Given the description of an element on the screen output the (x, y) to click on. 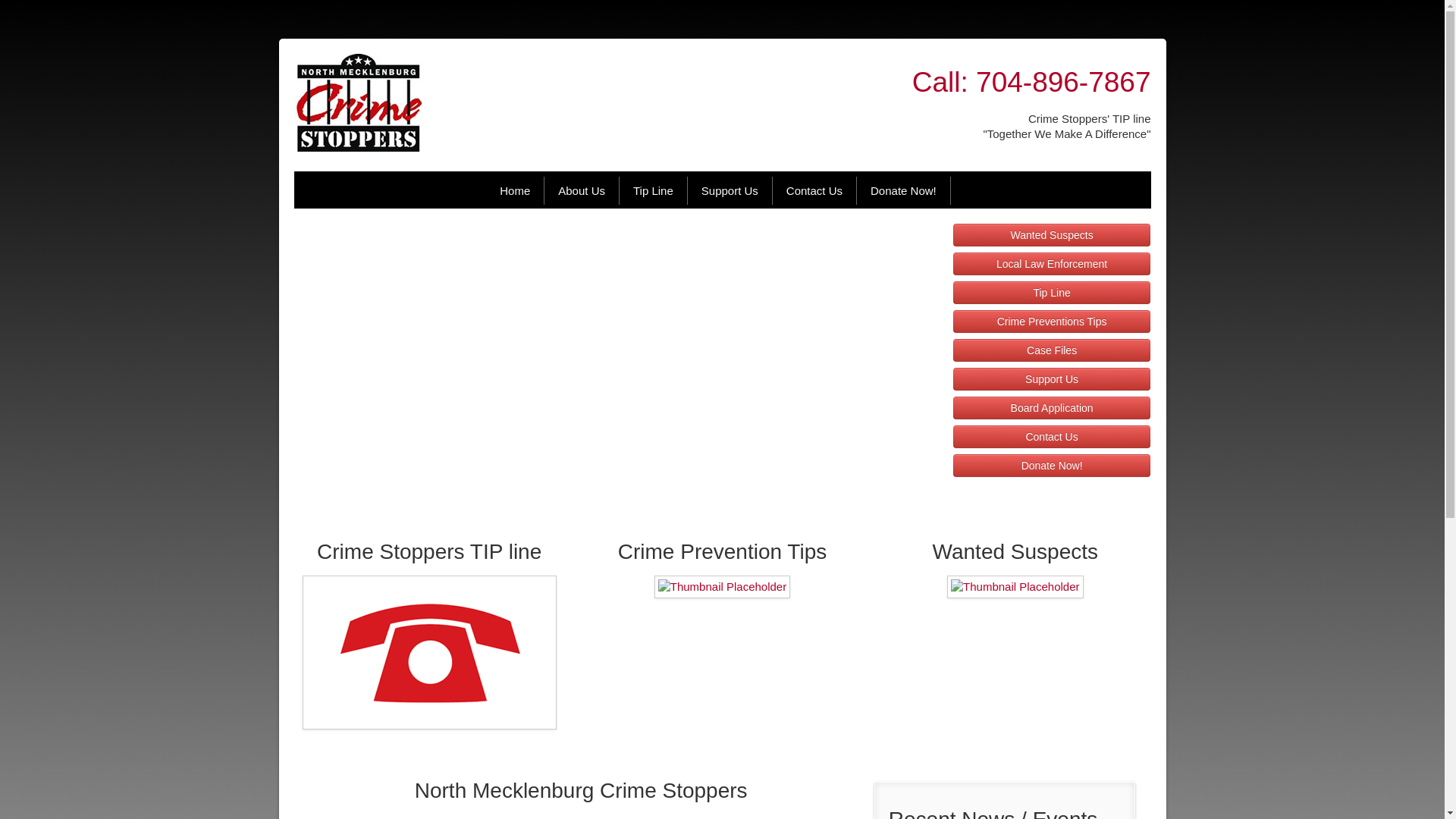
Donate Now! (903, 190)
Local Law Enforcement (1052, 263)
Thumbnail Placeholder (429, 652)
Contact Us (1052, 436)
Case Files (1052, 350)
Support Us (1052, 378)
Support Us (730, 190)
Contact Us (815, 190)
Crime Preventions Tips (1052, 321)
Call: 704-896-7867 (1031, 81)
